Given the description of an element on the screen output the (x, y) to click on. 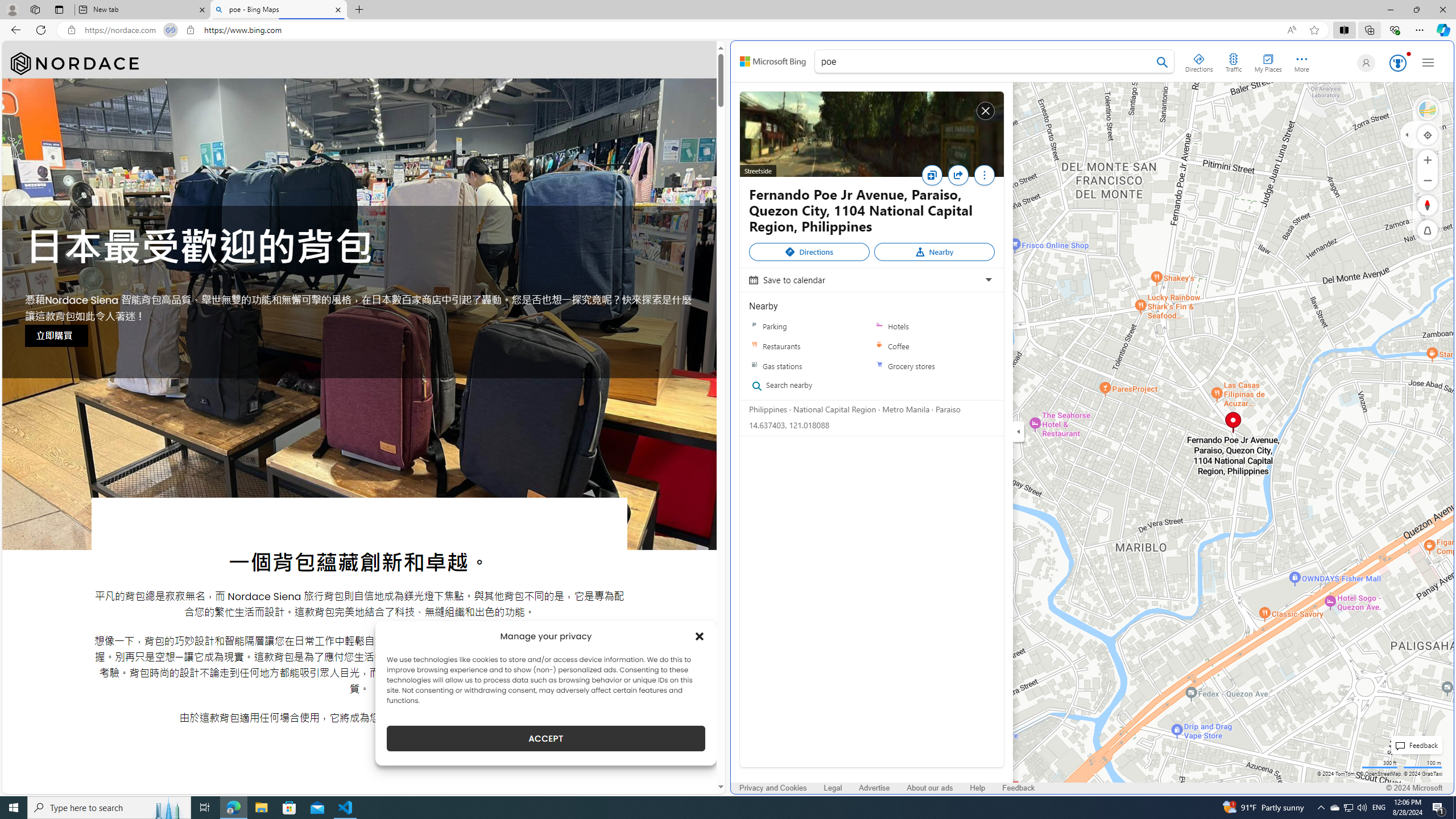
Coffee (879, 346)
Nearby (933, 252)
Save (934, 178)
Animation (1408, 53)
Help (977, 787)
AutomationID: rh_meter (1397, 62)
Help (977, 787)
Restaurants (808, 345)
Locate me (1427, 134)
Share (960, 178)
AutomationID: serp_medal_svg (1397, 63)
